Given the description of an element on the screen output the (x, y) to click on. 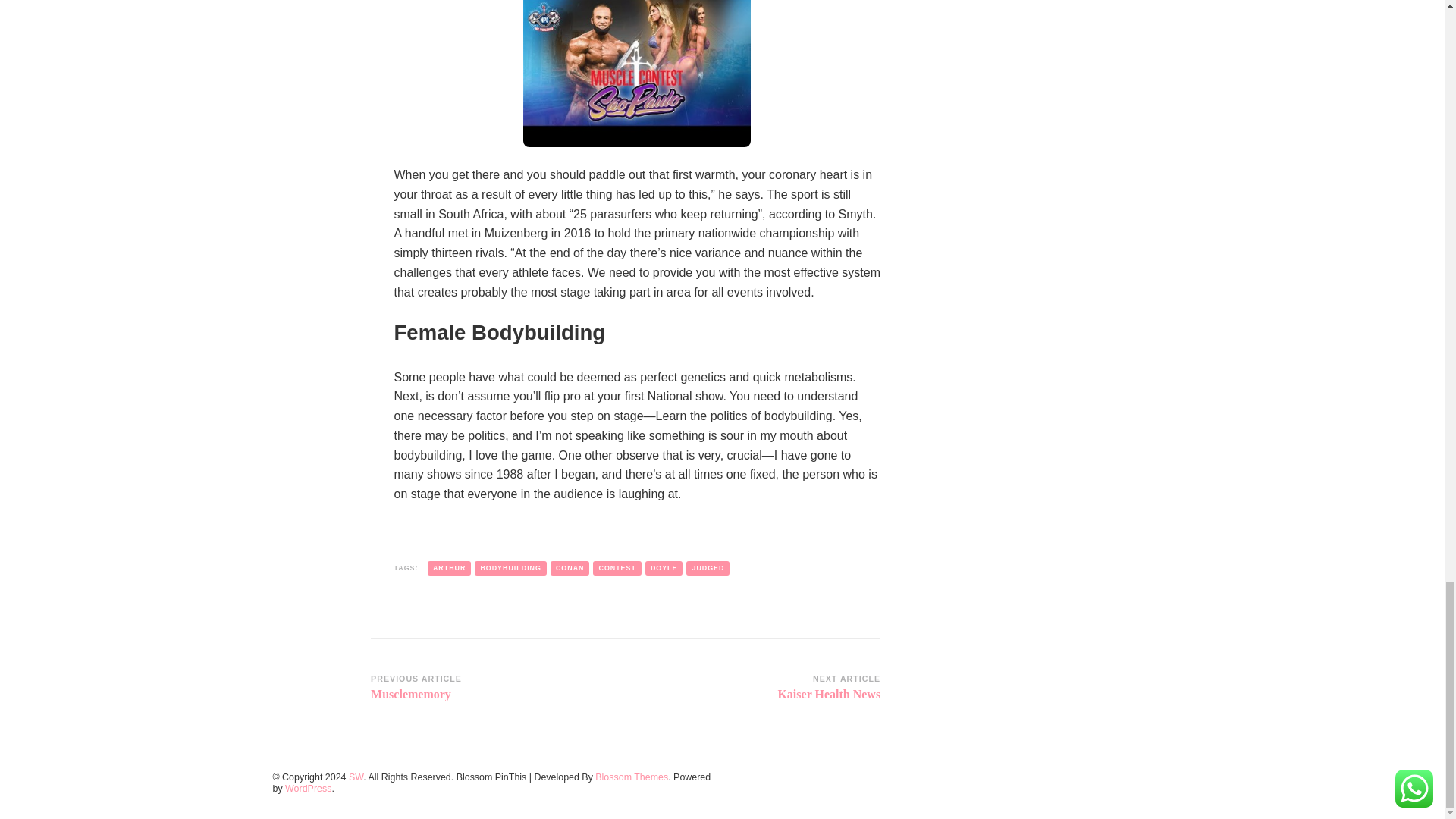
ARTHUR (449, 568)
CONTEST (758, 687)
CONAN (616, 568)
DOYLE (493, 687)
JUDGED (569, 568)
BODYBUILDING (663, 568)
